Given the description of an element on the screen output the (x, y) to click on. 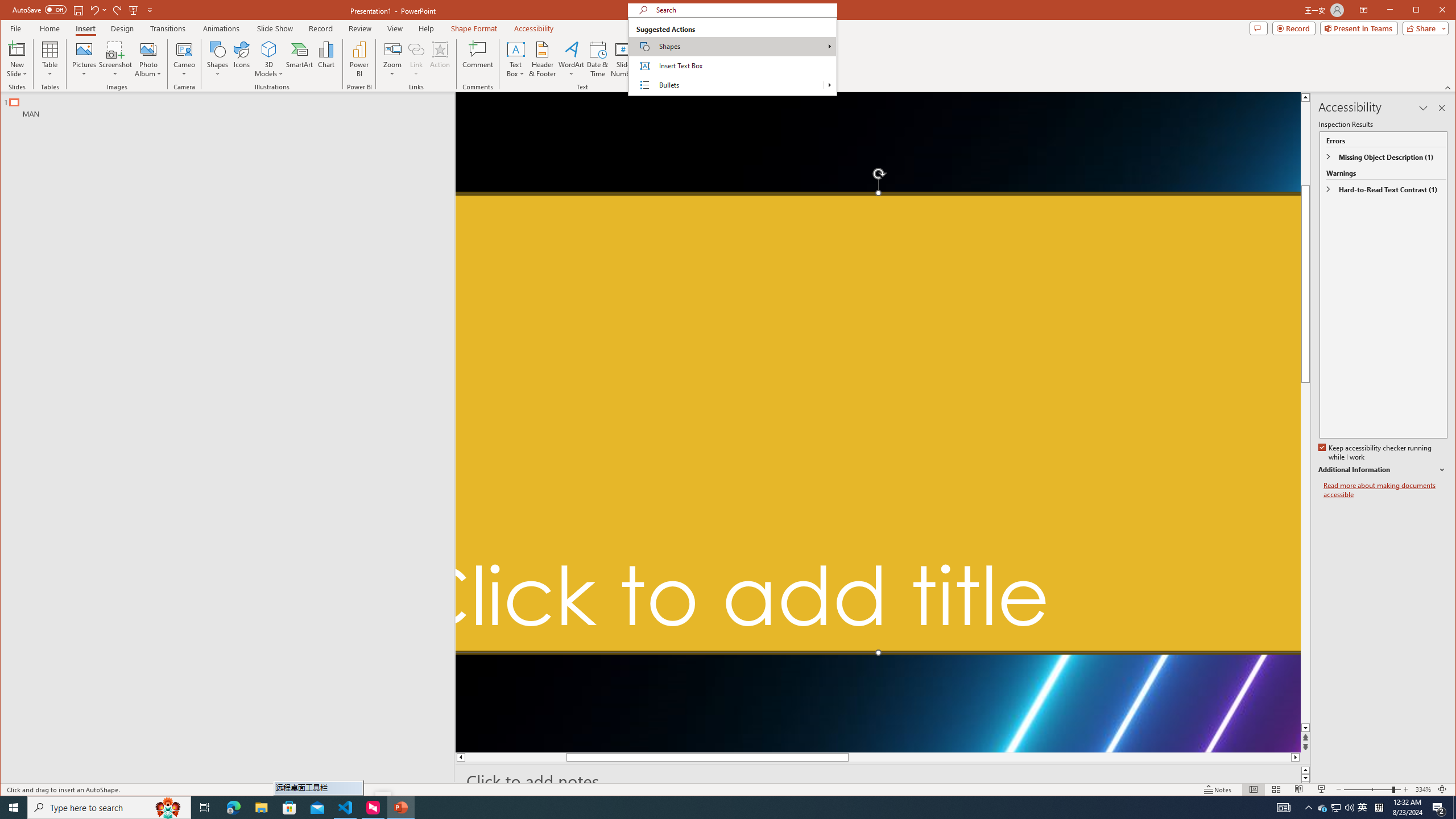
Draw Horizontal Text Box (515, 48)
Maximize (1432, 11)
Power BI (359, 59)
Screen Recording... (799, 59)
Photo Album... (148, 59)
Video (746, 59)
